Given the description of an element on the screen output the (x, y) to click on. 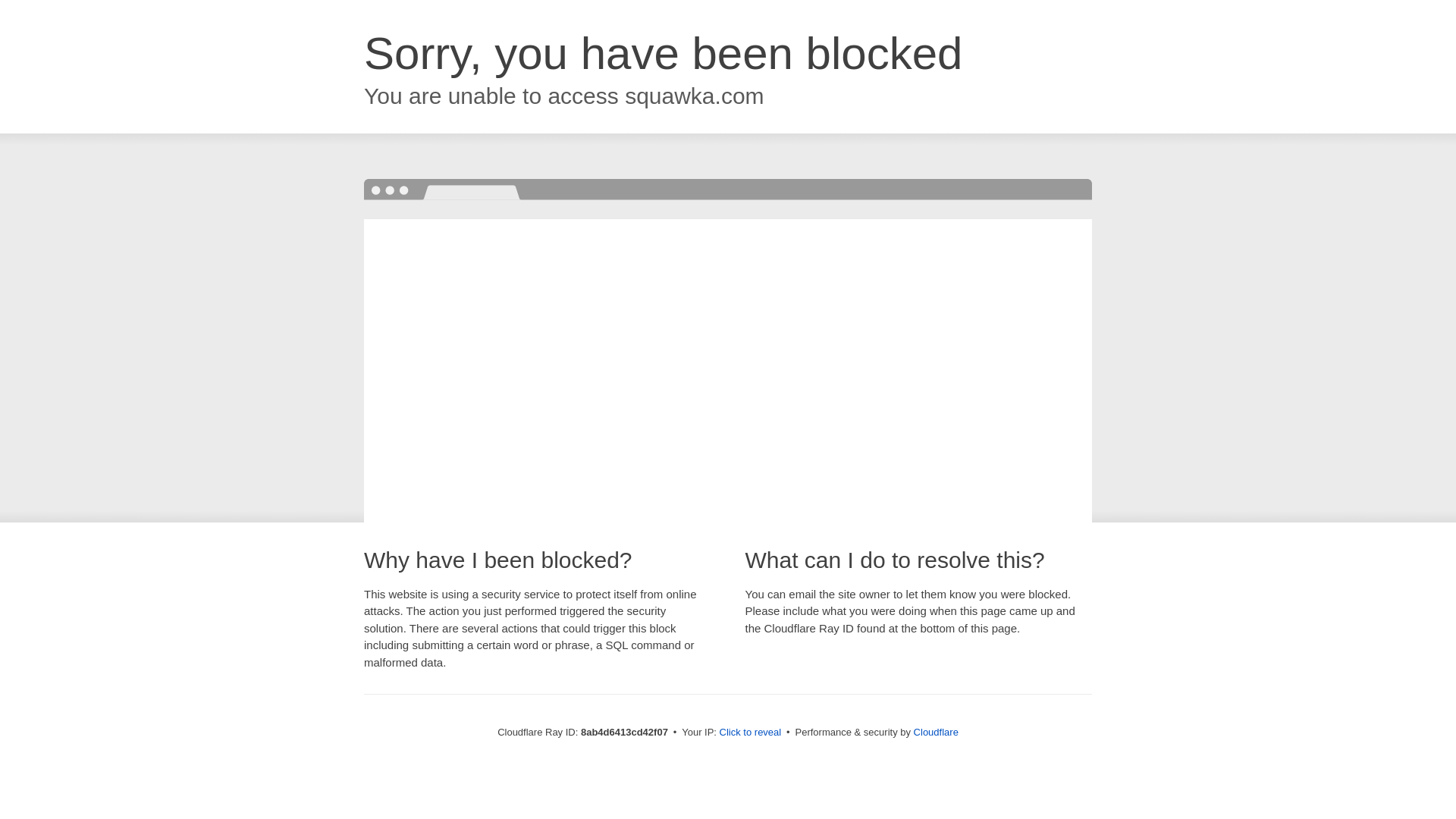
Click to reveal (750, 732)
Cloudflare (936, 731)
